Given the description of an element on the screen output the (x, y) to click on. 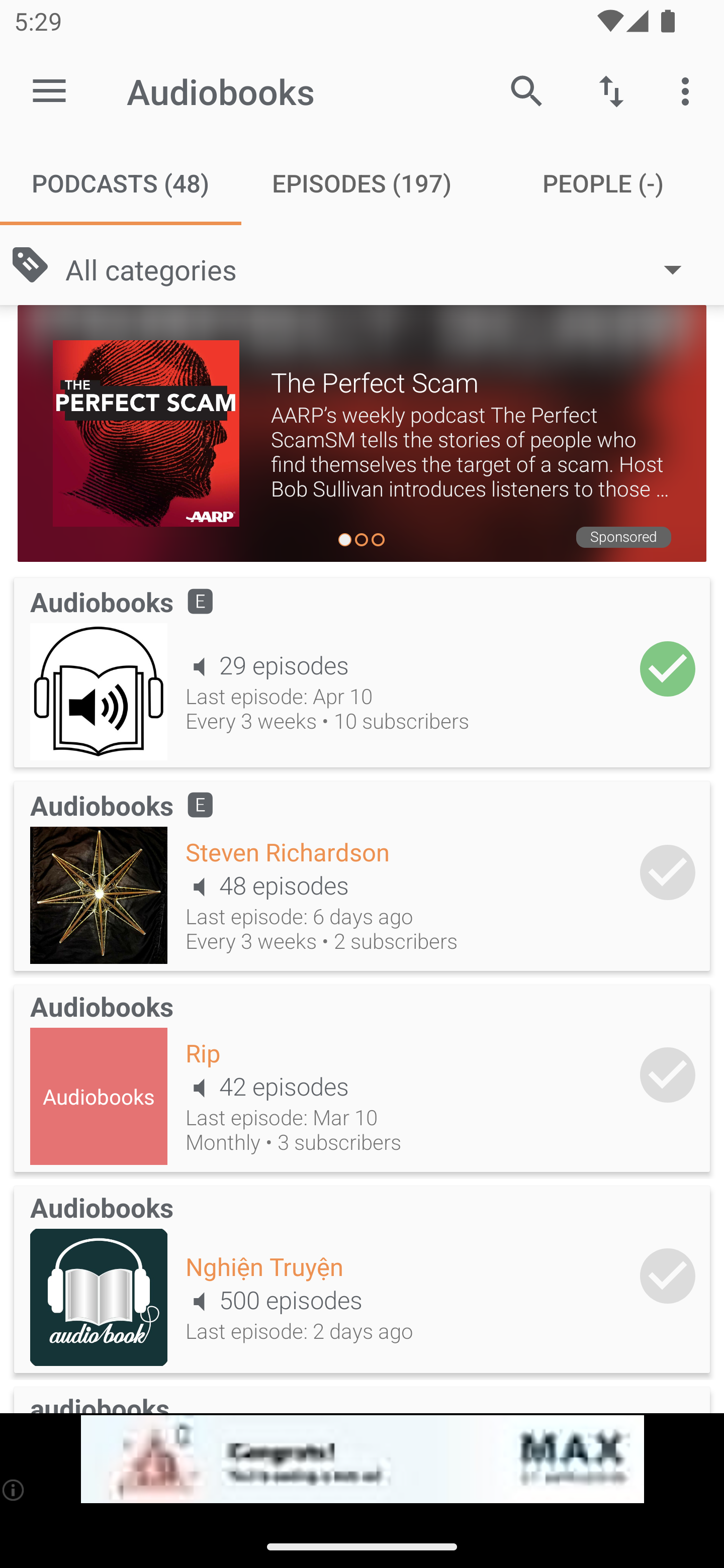
Open navigation sidebar (49, 91)
Search (526, 90)
Sort (611, 90)
More options (688, 90)
Episodes (197) EPISODES (197) (361, 183)
People (-) PEOPLE (-) (603, 183)
All categories (383, 268)
Add (667, 669)
Add (667, 871)
Add (667, 1074)
Add (667, 1276)
app-monetization (362, 1459)
(i) (14, 1489)
